Given the description of an element on the screen output the (x, y) to click on. 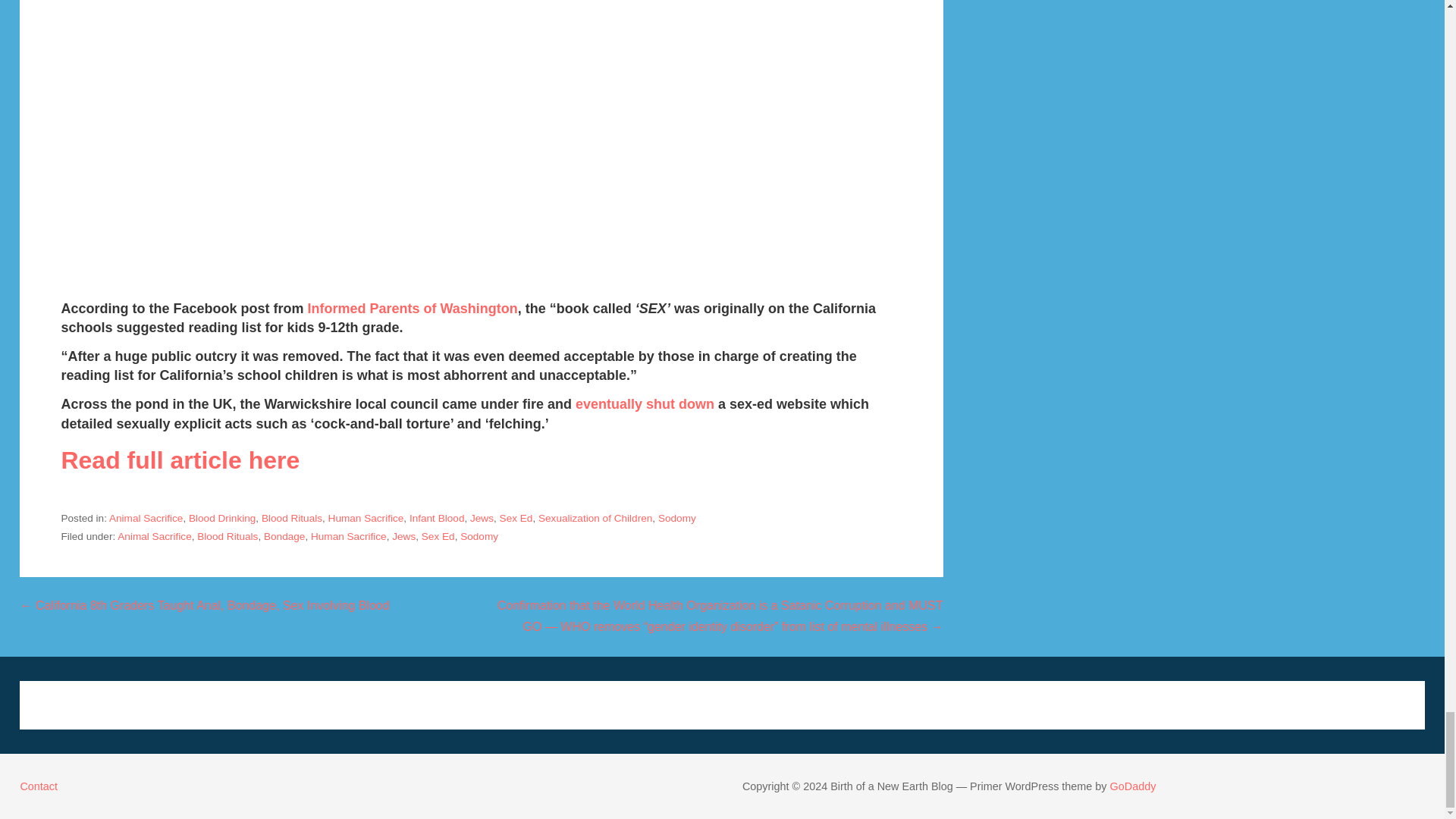
Read full article here (180, 460)
Jews (481, 518)
Animal Sacrifice (153, 536)
 Informed Parents of Washington (409, 308)
Sex Ed (515, 518)
Sodomy (676, 518)
fb:post Facebook Social Plugin (250, 136)
Infant Blood (436, 518)
Sodomy (478, 536)
Human Sacrifice (349, 536)
eventually shut down (644, 403)
Blood Drinking (222, 518)
Animal Sacrifice (146, 518)
Human Sacrifice (366, 518)
Jews (402, 536)
